Given the description of an element on the screen output the (x, y) to click on. 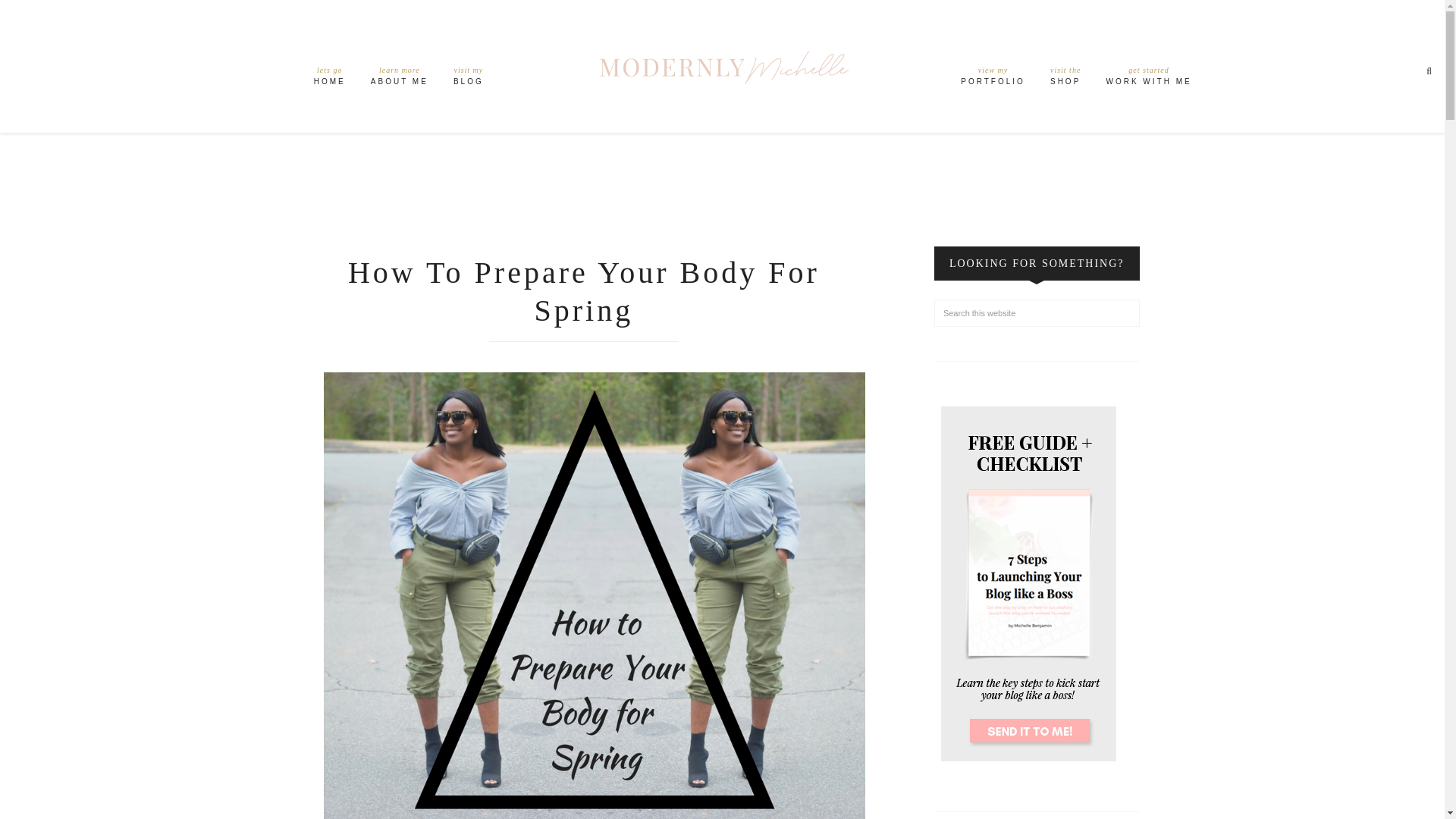
Search (992, 78)
Search (468, 78)
Modernly Michelle (1148, 78)
